Given the description of an element on the screen output the (x, y) to click on. 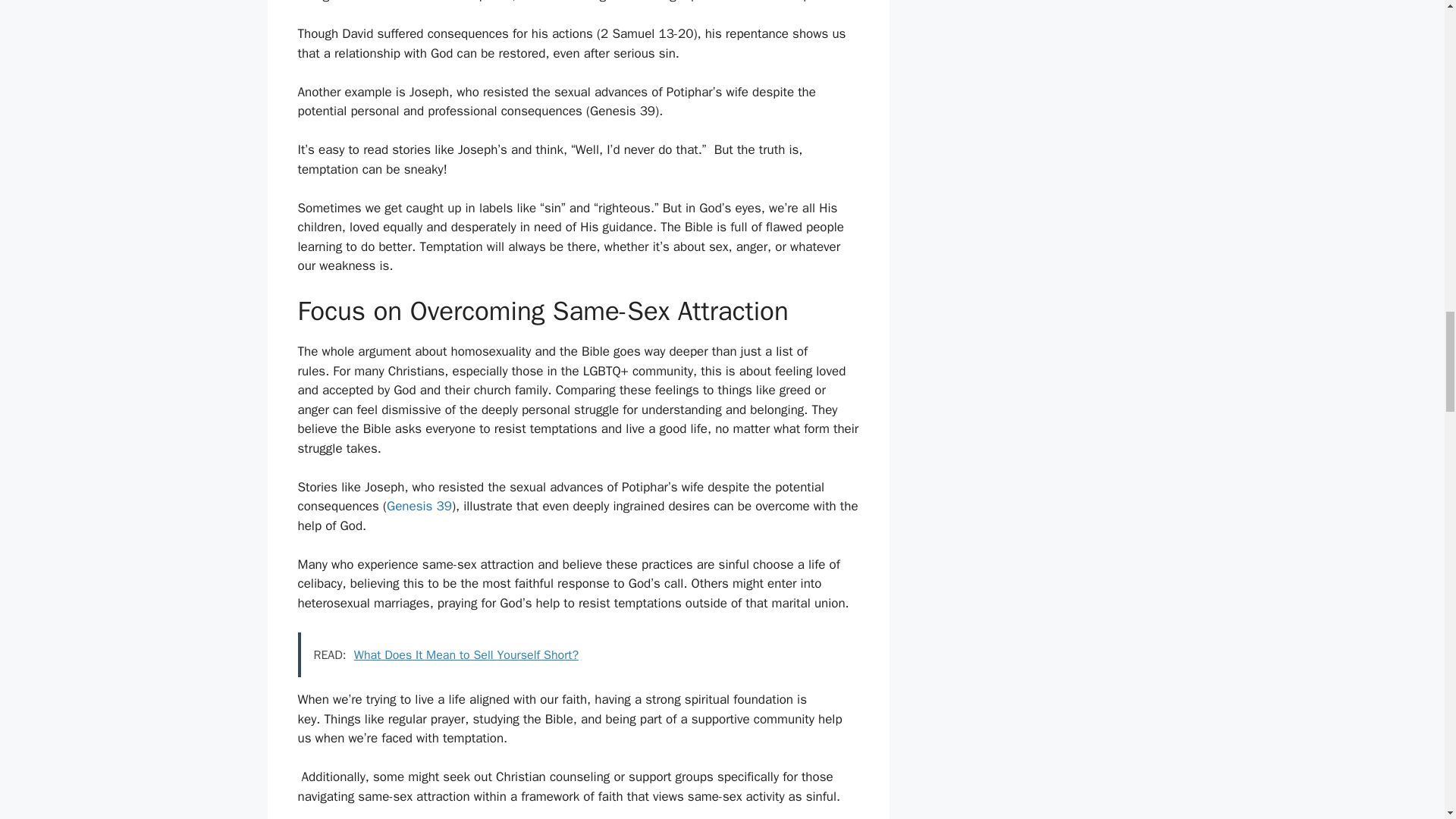
Genesis 39 (419, 505)
READ:  What Does It Mean to Sell Yourself Short? (578, 655)
